Given the description of an element on the screen output the (x, y) to click on. 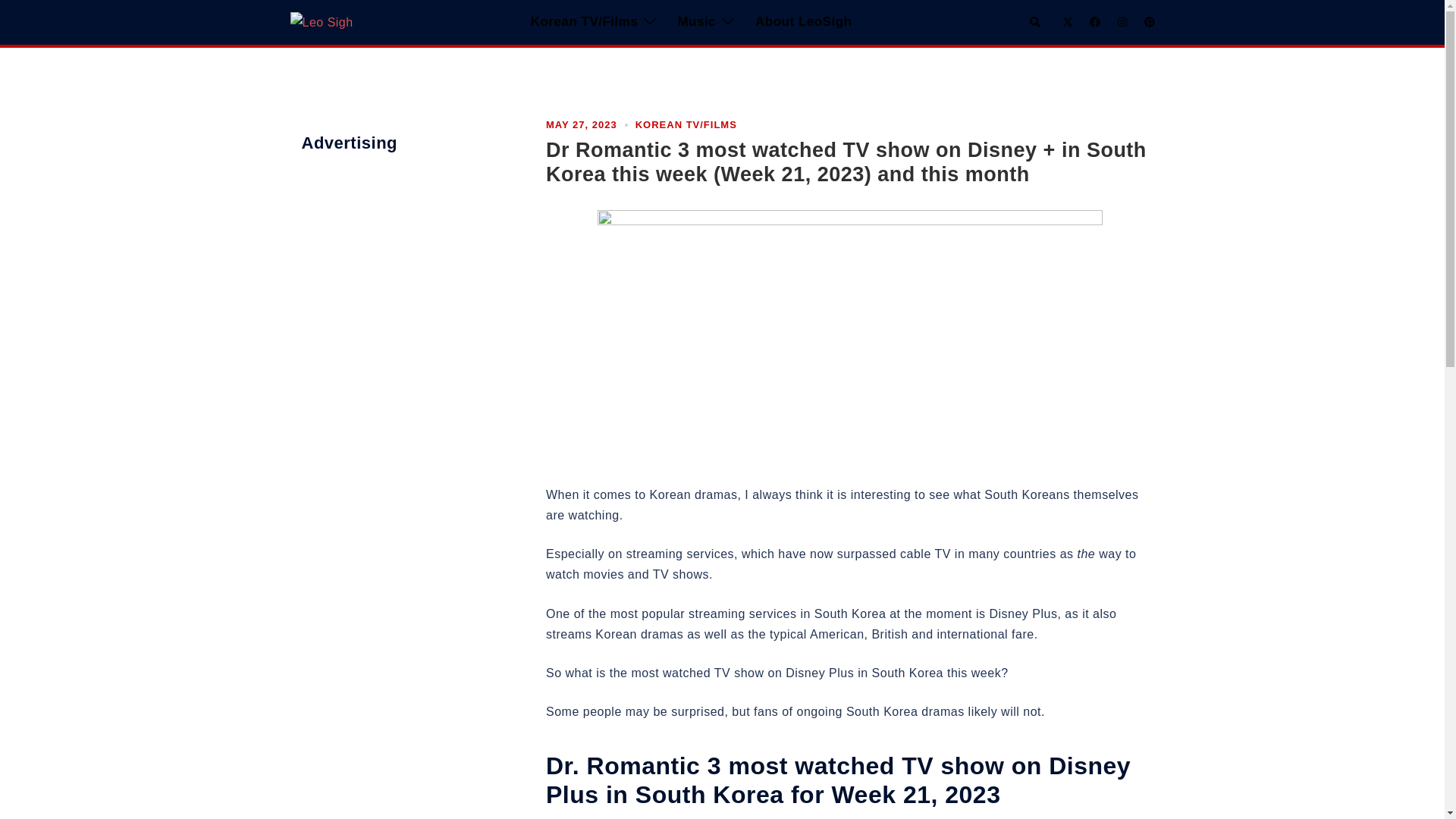
Music (696, 22)
About LeoSigh (803, 22)
MAY 27, 2023 (581, 124)
Search (1035, 21)
Leo Sigh (320, 21)
